Given the description of an element on the screen output the (x, y) to click on. 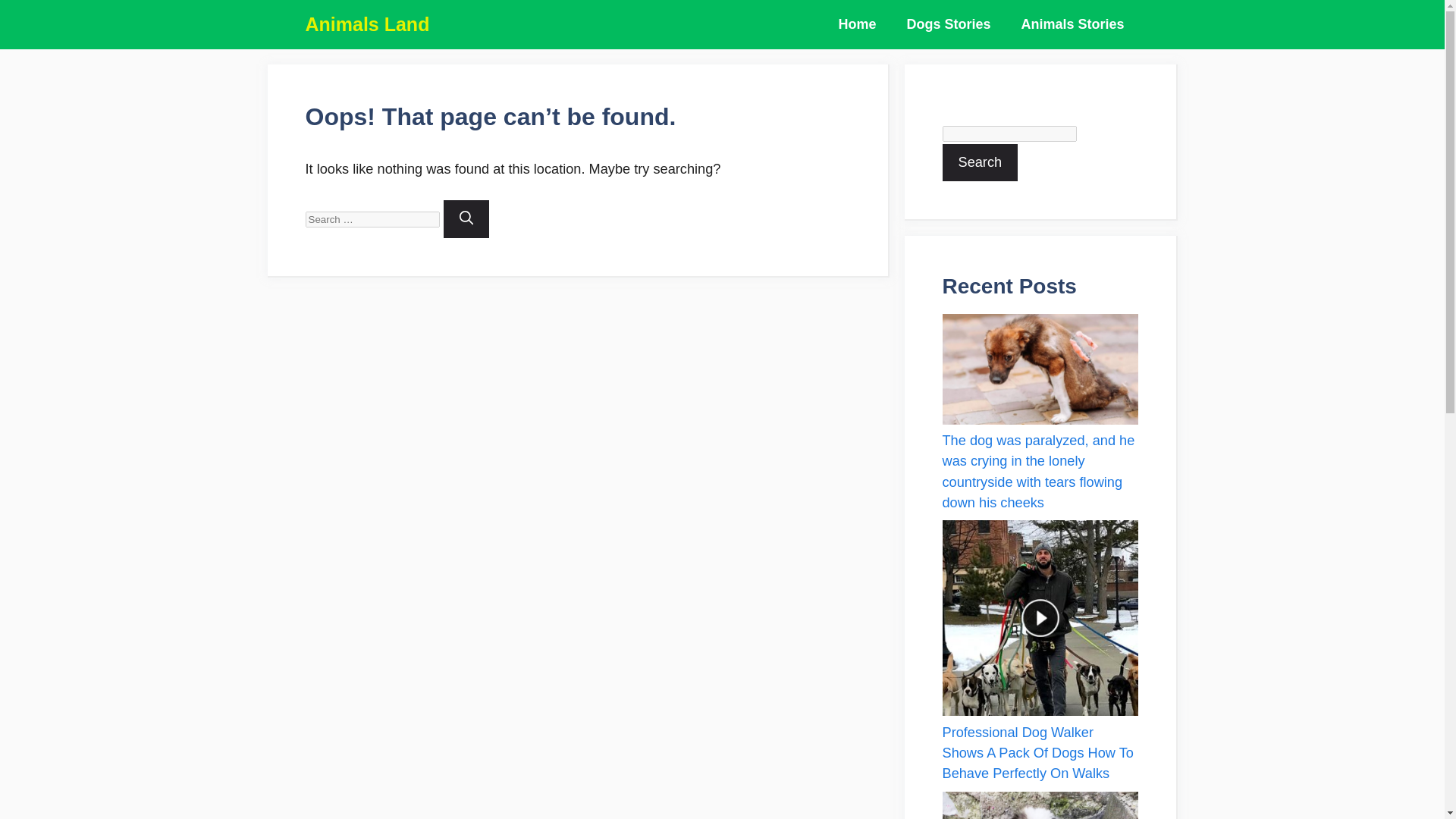
Animals Land (366, 24)
Dogs Stories (948, 24)
Animals Stories (1072, 24)
Search for: (371, 219)
Home (856, 24)
Search (979, 162)
